Given the description of an element on the screen output the (x, y) to click on. 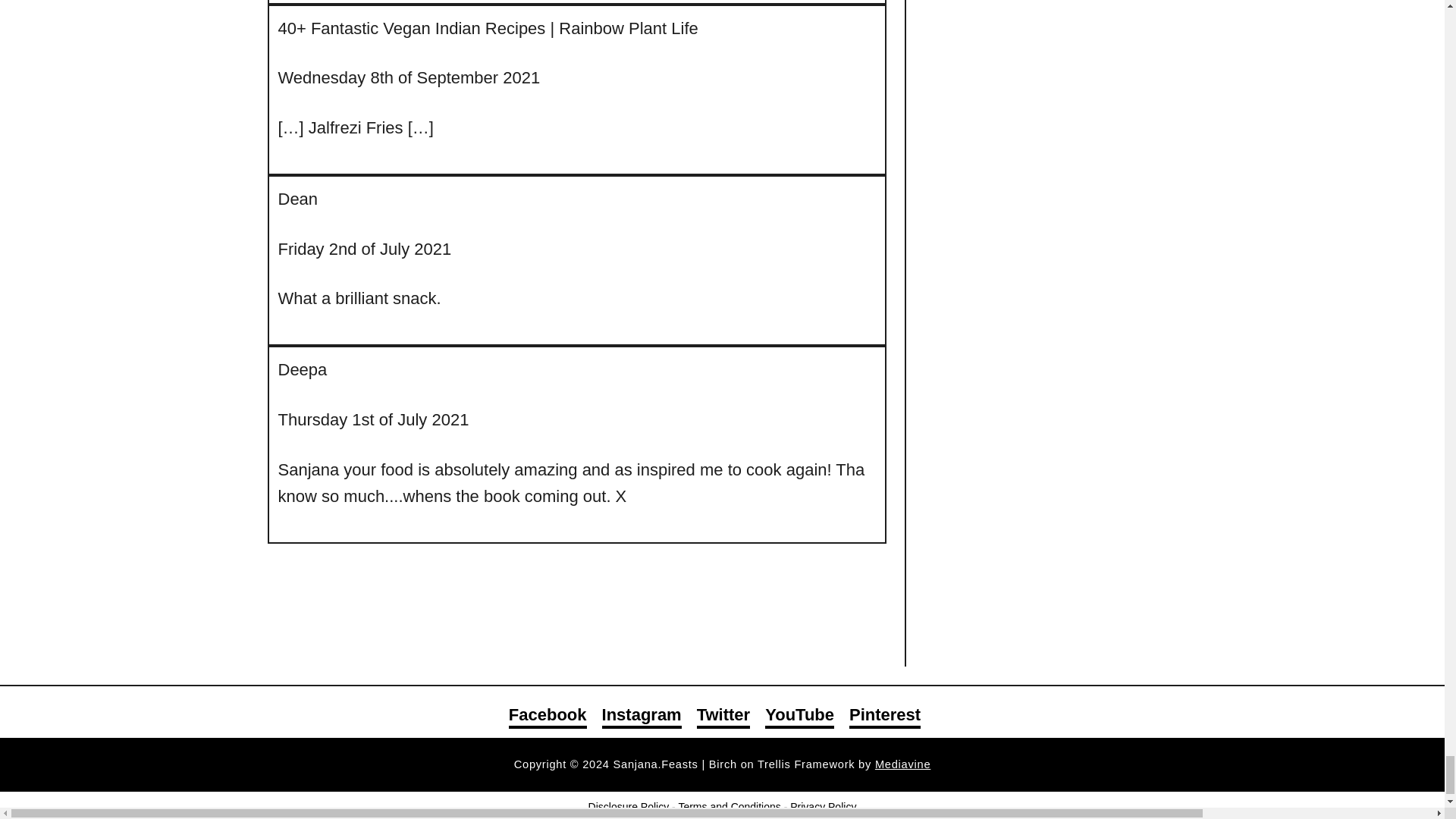
Instagram (641, 716)
Facebook (547, 716)
Twitter (723, 716)
